Given the description of an element on the screen output the (x, y) to click on. 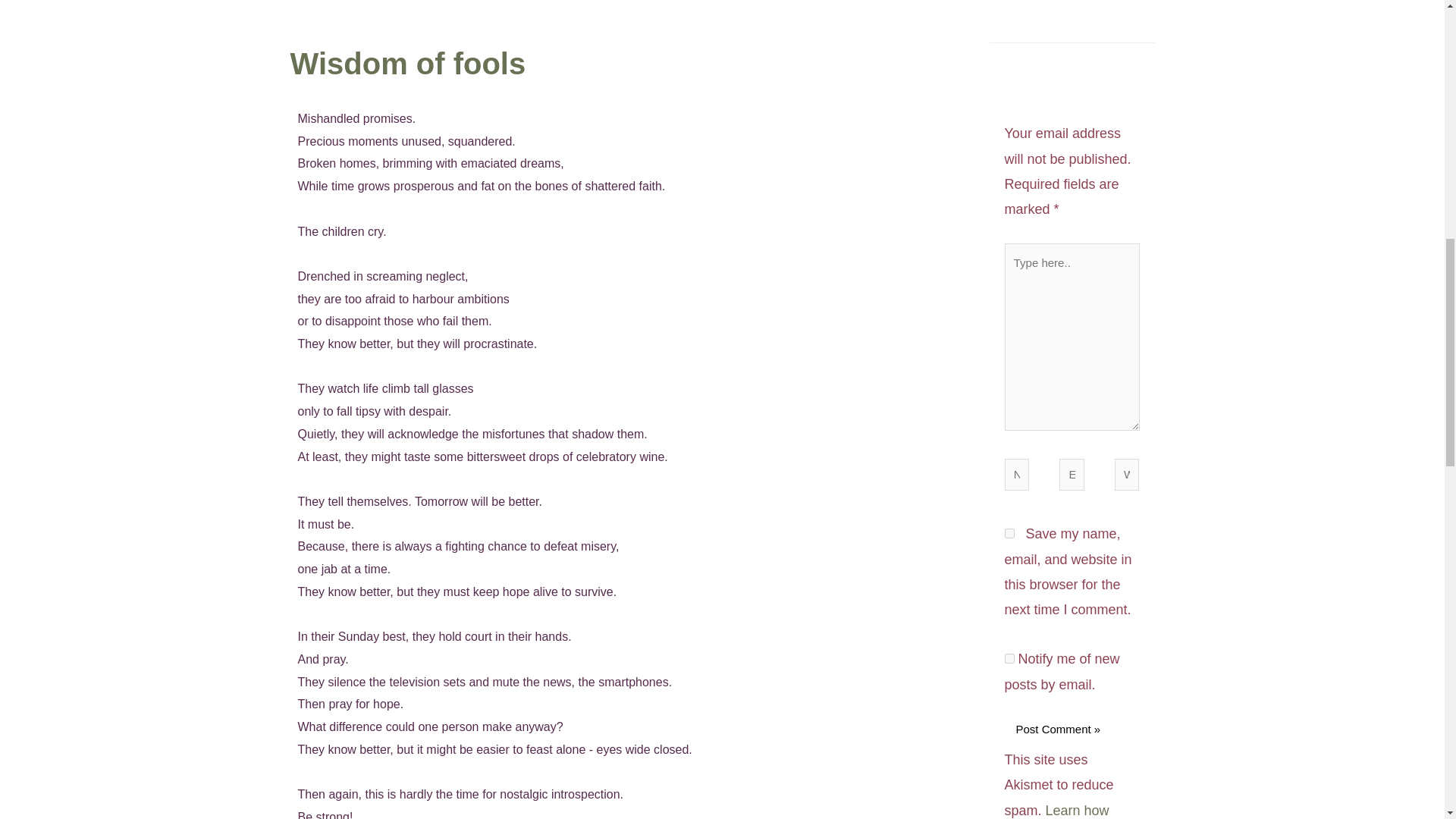
yes (1008, 533)
Learn how your comment data is processed (1069, 811)
subscribe (1008, 658)
